Given the description of an element on the screen output the (x, y) to click on. 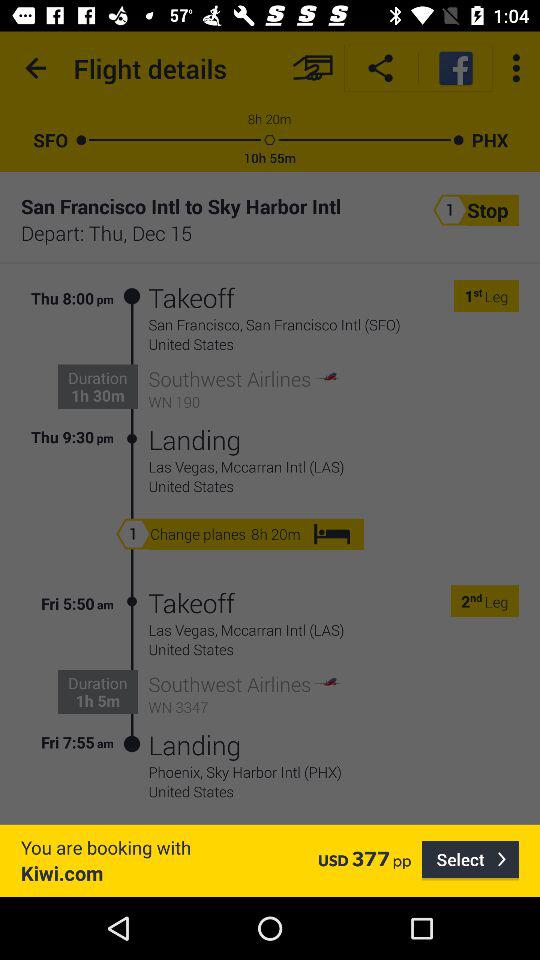
turn on icon to the left of the takeoff item (131, 368)
